Given the description of an element on the screen output the (x, y) to click on. 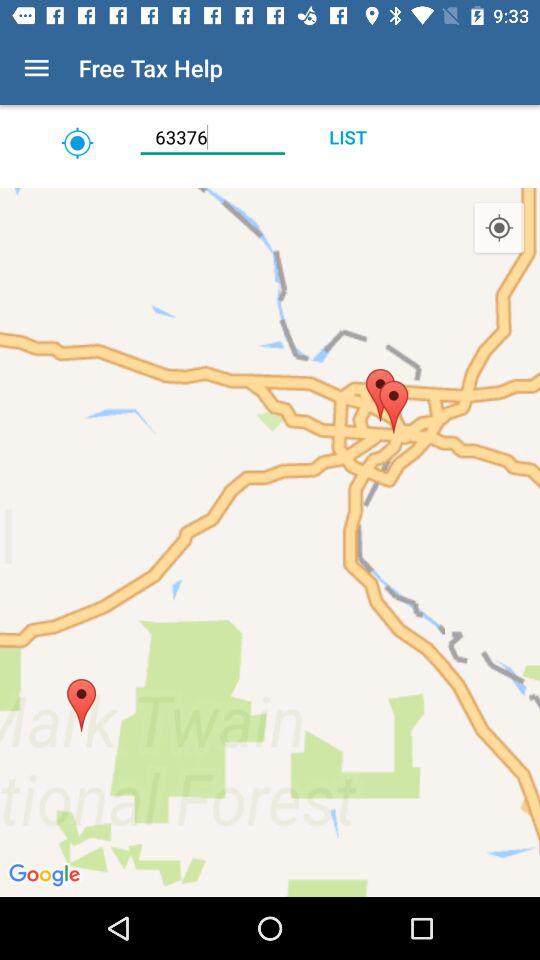
turn off the icon next to 63376 (347, 137)
